Given the description of an element on the screen output the (x, y) to click on. 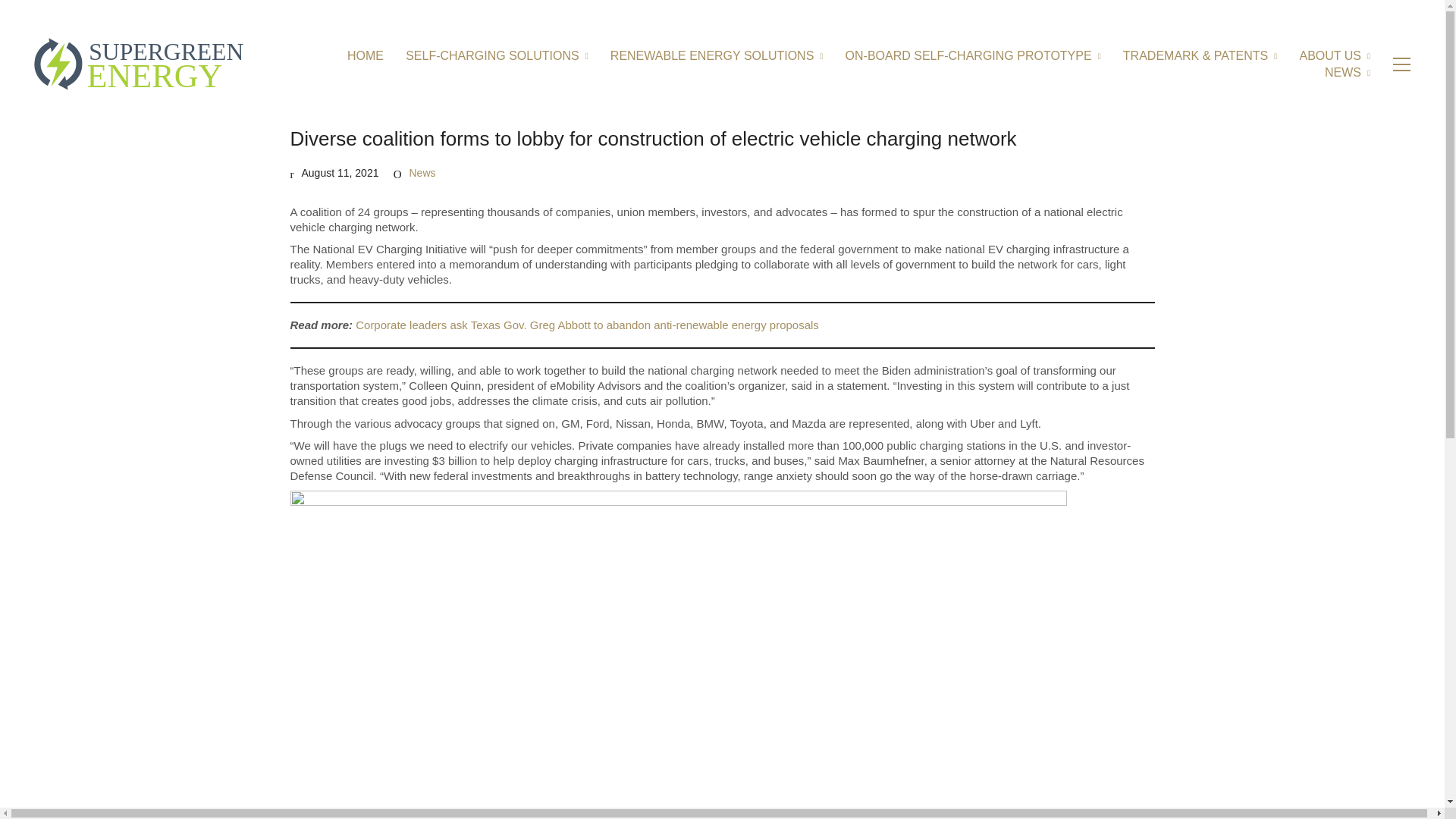
ON-BOARD SELF-CHARGING PROTOTYPE (972, 55)
SELF-CHARGING SOLUTIONS (497, 55)
RENEWABLE ENERGY SOLUTIONS (717, 55)
HOME (365, 55)
ABOUT US (1334, 55)
